Given the description of an element on the screen output the (x, y) to click on. 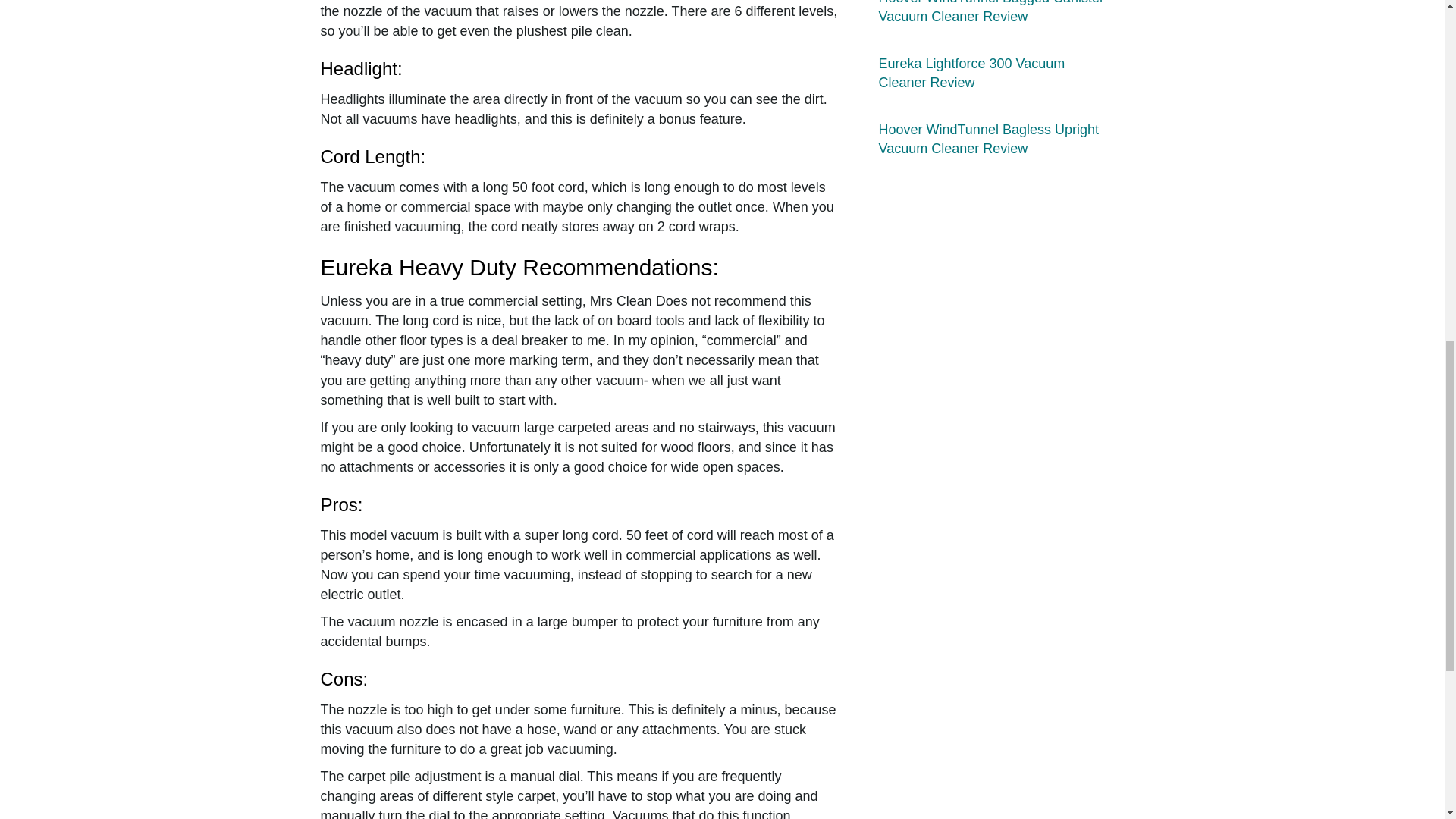
Hoover WindTunnel Bagless Upright Vacuum Cleaner Review (987, 139)
Eureka Lightforce 300 Vacuum Cleaner Review (970, 73)
Hoover WindTunnel Bagged Canister Vacuum Cleaner Review (990, 12)
Hoover WindTunnel Bagged Canister Vacuum Cleaner Review (990, 12)
Eureka Lightforce 300 Vacuum Cleaner Review (970, 73)
Hoover WindTunnel Bagless Upright Vacuum Cleaner Review (987, 139)
